Given the description of an element on the screen output the (x, y) to click on. 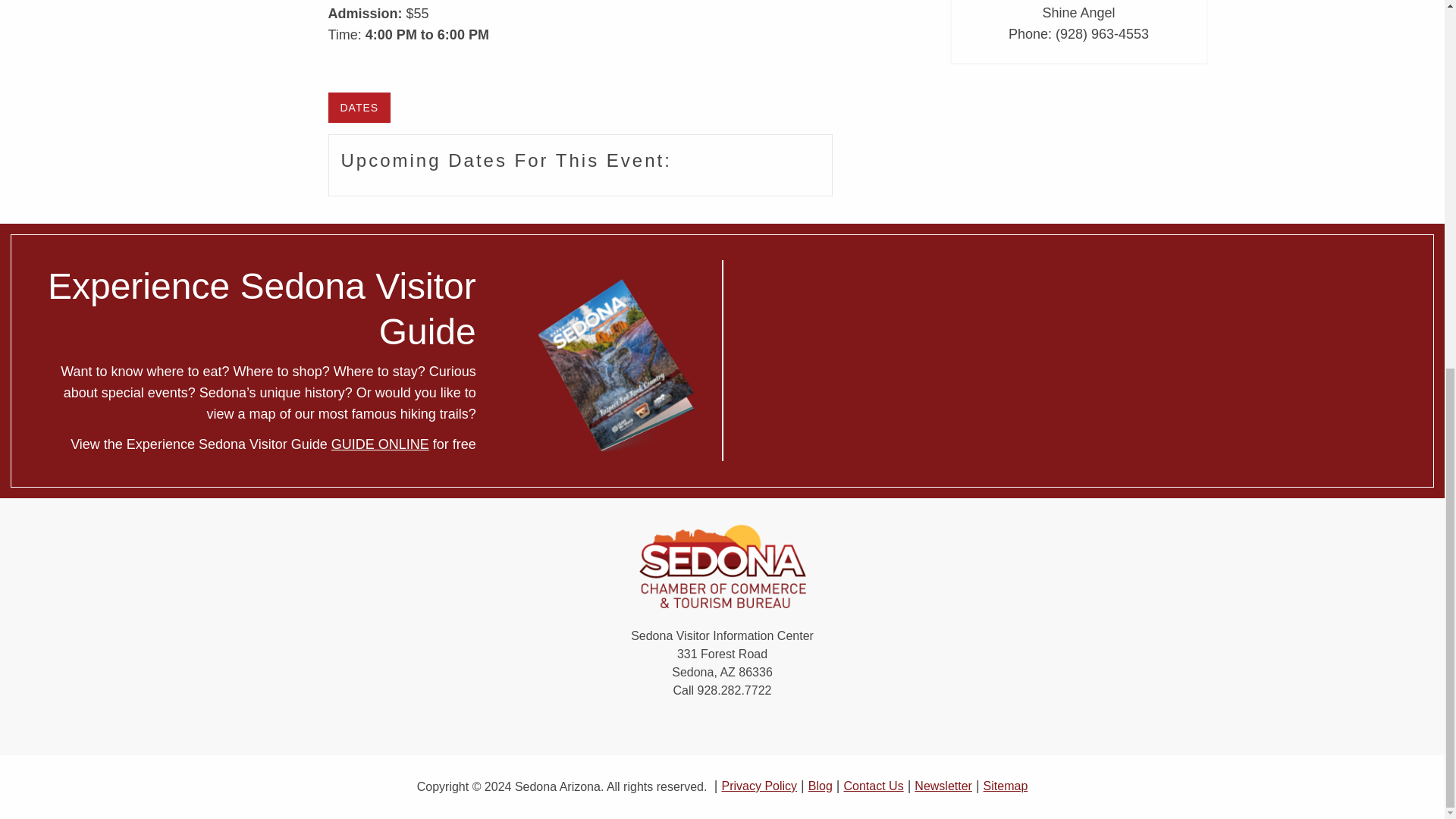
Blog (820, 785)
Facebook (648, 726)
Twitter (677, 726)
Visit us on Blog (796, 726)
Visit us on Instagram (736, 726)
Pinterest (707, 726)
Newsletter (943, 785)
Visit us on Twitter (677, 726)
Visit us on YouTube (766, 726)
GUIDE ONLINE (380, 444)
